Given the description of an element on the screen output the (x, y) to click on. 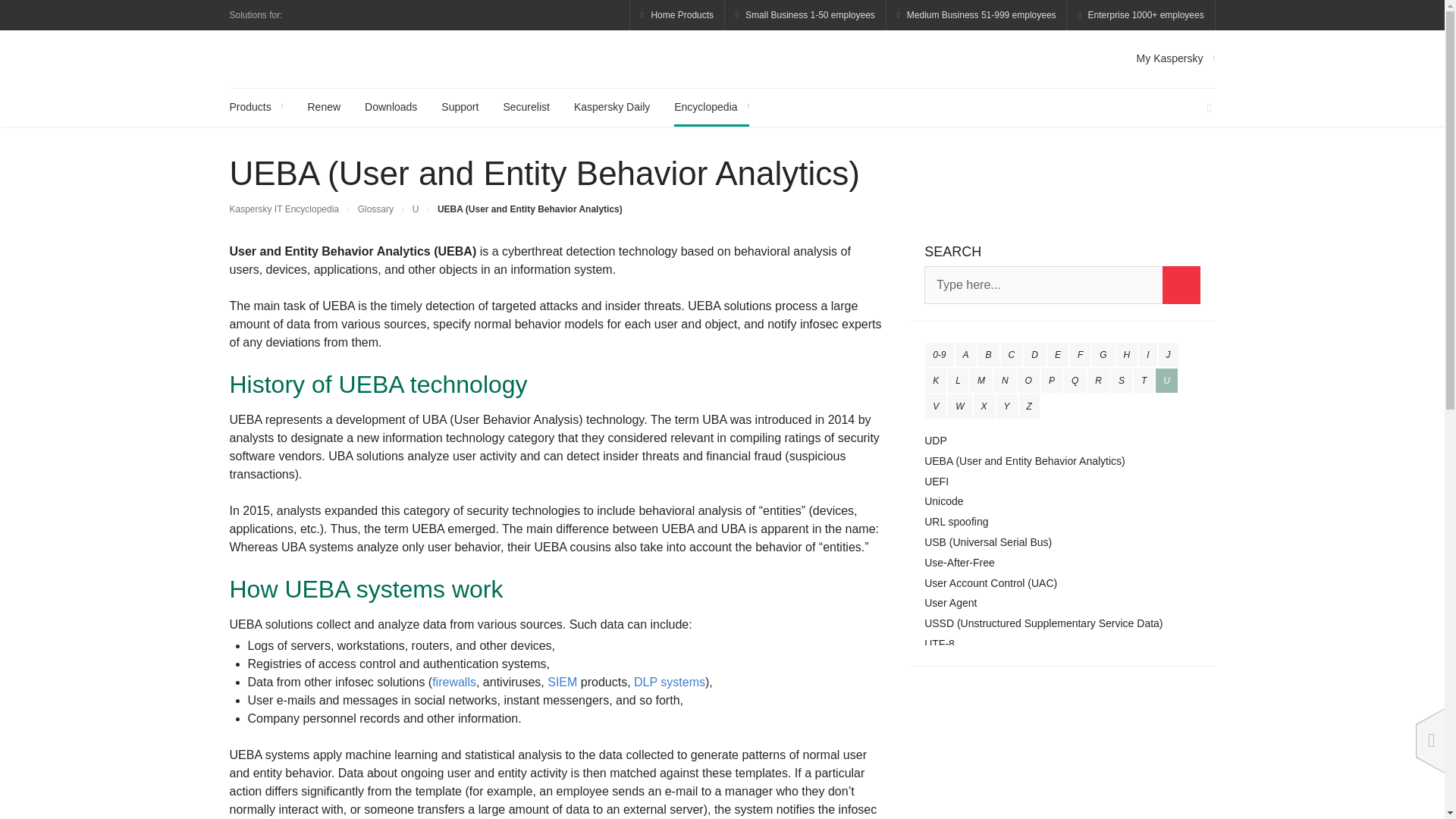
Encyclopedia (711, 107)
Kaspersky IT Encyclopedia (300, 57)
Kaspersky Daily (611, 107)
Support (460, 107)
Home Products (676, 15)
Type here... (1061, 284)
Products (255, 107)
Downloads (390, 107)
Securelist (525, 107)
My Kaspersky (1176, 58)
